Given the description of an element on the screen output the (x, y) to click on. 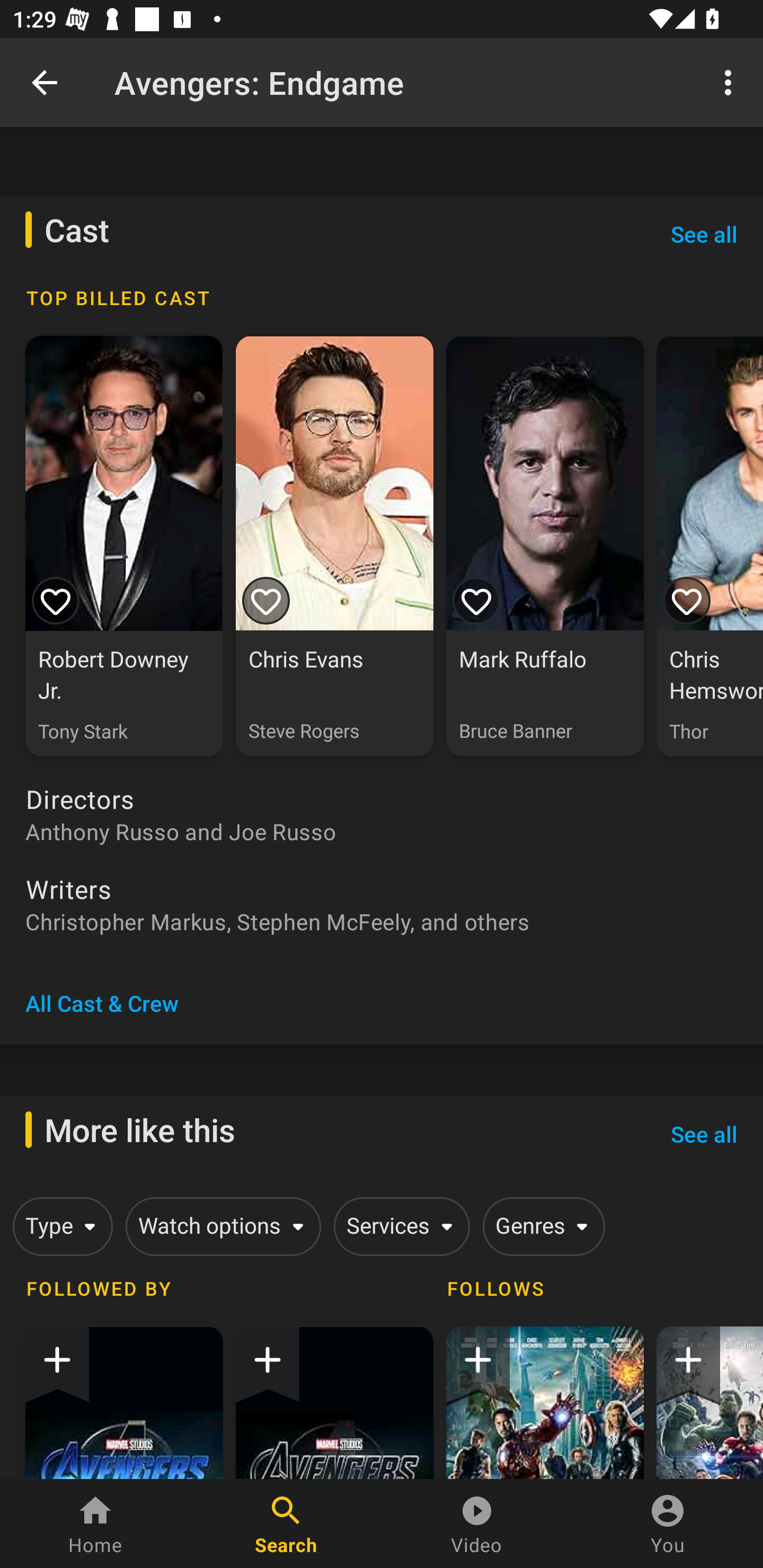
More options (731, 81)
See all See all Cast (703, 234)
Robert Downey Jr. Tony Stark (123, 545)
Chris Evans Steve Rogers (334, 545)
Mark Ruffalo Bruce Banner (544, 545)
Anthony Russo and Joe Russo (381, 831)
Christopher Markus, Stephen McFeely, and others (381, 921)
All Cast & Crew (101, 1003)
See all See all More like this (703, 1134)
Type (59, 1226)
Watch options (219, 1226)
Services (398, 1226)
Genres (540, 1226)
Home (95, 1523)
Video (476, 1523)
You (667, 1523)
